Given the description of an element on the screen output the (x, y) to click on. 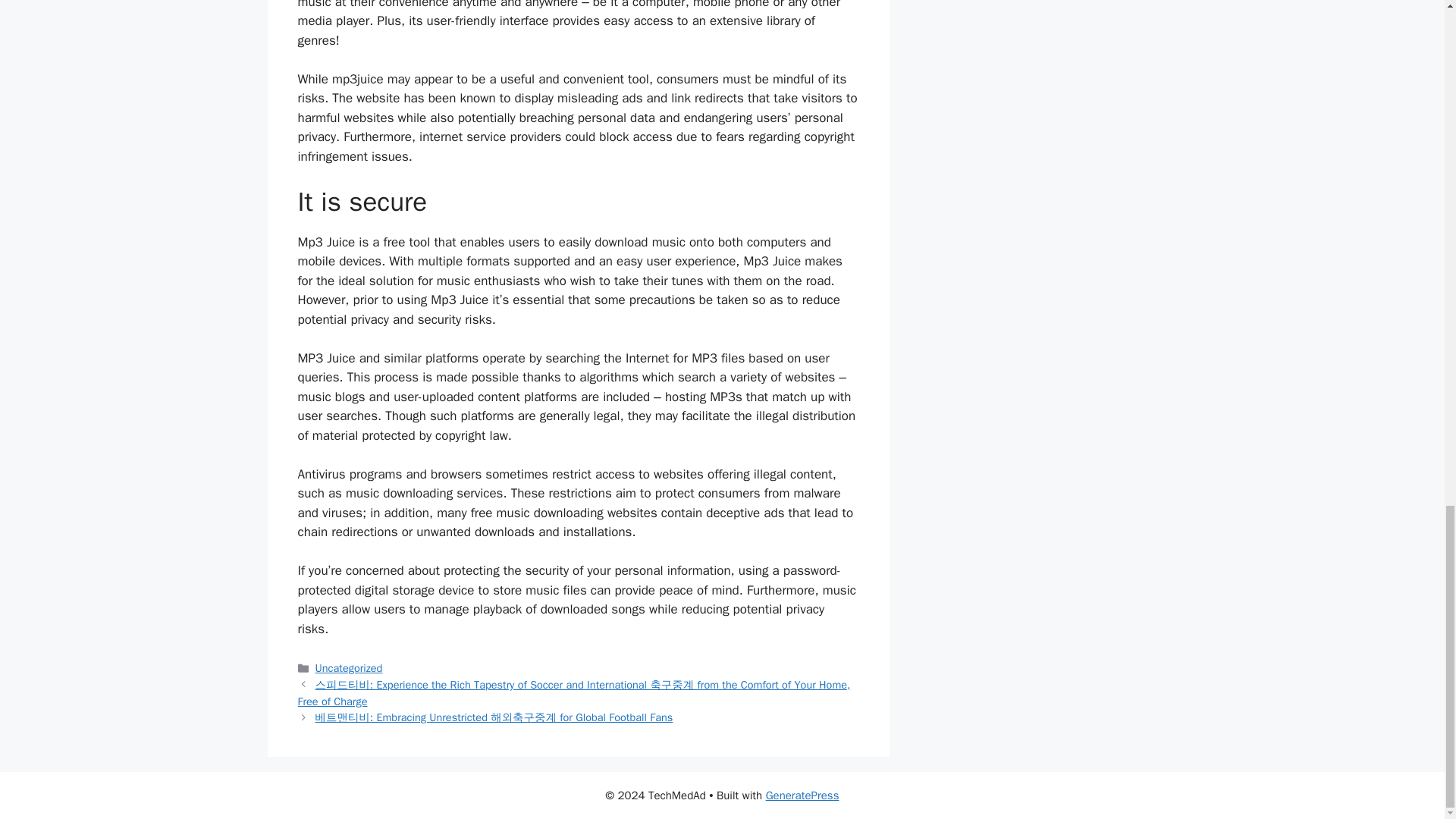
Uncategorized (348, 667)
GeneratePress (802, 795)
